Given the description of an element on the screen output the (x, y) to click on. 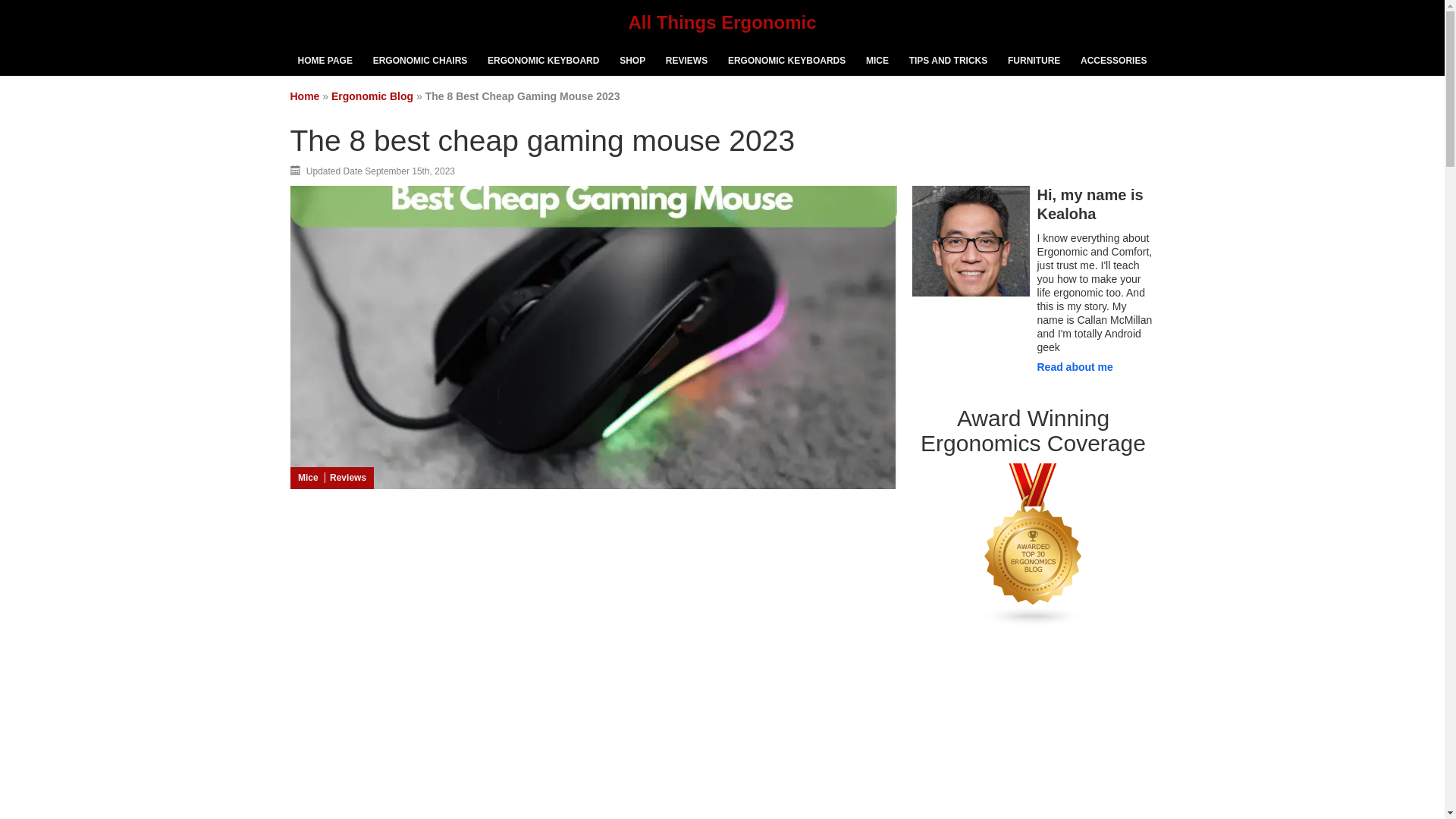
FURNITURE (1033, 60)
TIPS AND TRICKS (948, 60)
Reviews (345, 477)
ERGONOMIC CHAIRS (420, 60)
ERGONOMIC KEYBOARDS (786, 60)
All Things Ergonomic (721, 22)
ERGONOMIC KEYBOARD (543, 60)
Ergonomics Blogs (1032, 623)
ACCESSORIES (1113, 60)
Mice (307, 477)
All Things Ergonomic (721, 22)
SHOP (631, 60)
Reviews (345, 477)
MICE (877, 60)
Mice (307, 477)
